Given the description of an element on the screen output the (x, y) to click on. 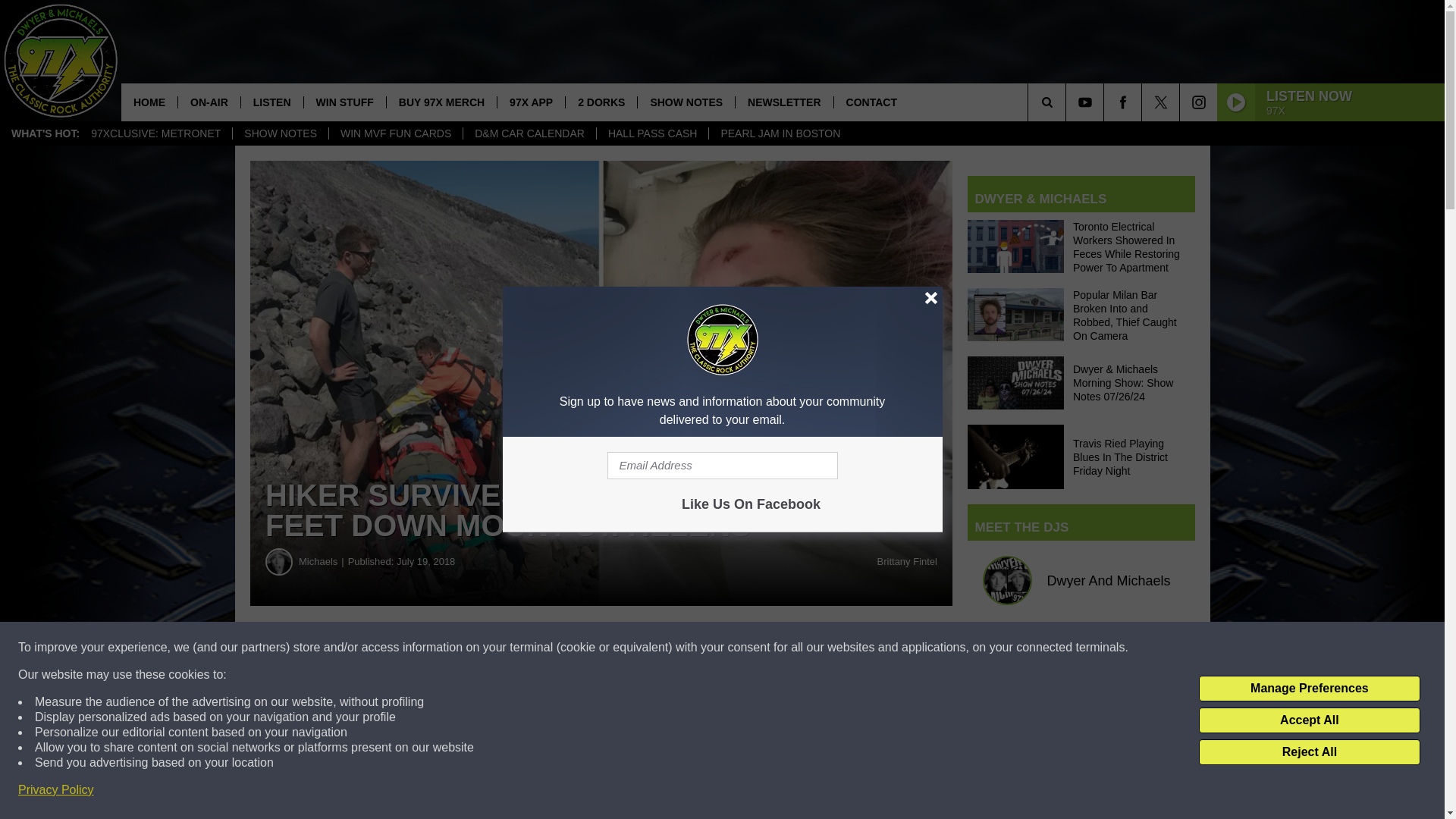
Accept All (1309, 720)
WIN STUFF (343, 102)
SEARCH (1068, 102)
2 DORKS (600, 102)
LISTEN (271, 102)
97XCLUSIVE: METRONET (155, 133)
Reject All (1309, 751)
PEARL JAM IN BOSTON (779, 133)
WIN MVF FUN CARDS (396, 133)
NEWSLETTER (783, 102)
HOME (148, 102)
SHOW NOTES (280, 133)
Share on Facebook (460, 647)
Manage Preferences (1309, 688)
BUY 97X MERCH (440, 102)
